Given the description of an element on the screen output the (x, y) to click on. 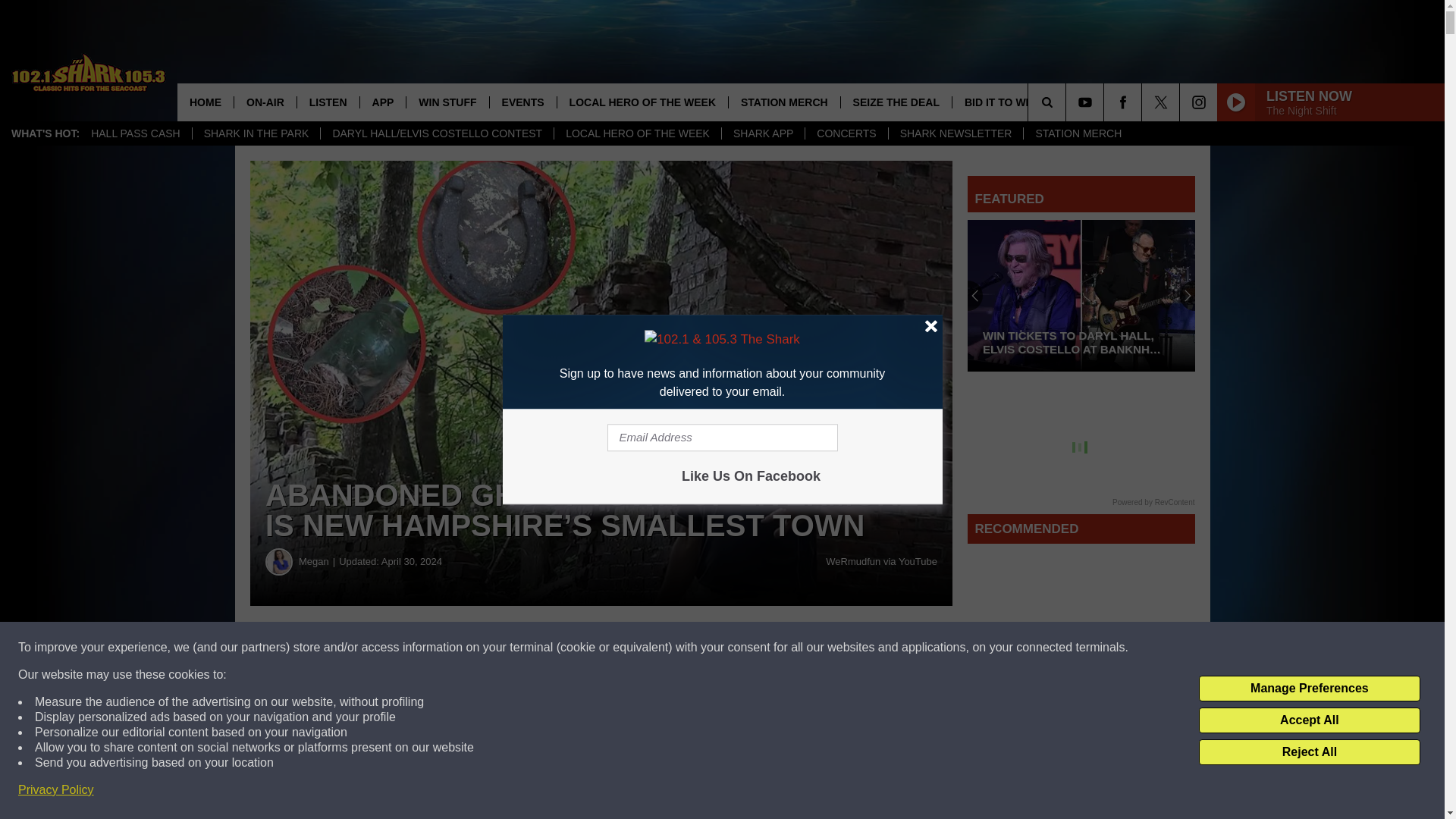
SHARK IN THE PARK (256, 133)
SEARCH (1068, 102)
Reject All (1309, 751)
Share on Twitter (741, 647)
HALL PASS CASH (136, 133)
Privacy Policy (55, 789)
CONCERTS (845, 133)
Accept All (1309, 720)
Manage Preferences (1309, 688)
SEARCH (1068, 102)
HOME (204, 102)
STATION MERCH (1077, 133)
SHARK APP (762, 133)
EVENTS (522, 102)
ON-AIR (264, 102)
